Given the description of an element on the screen output the (x, y) to click on. 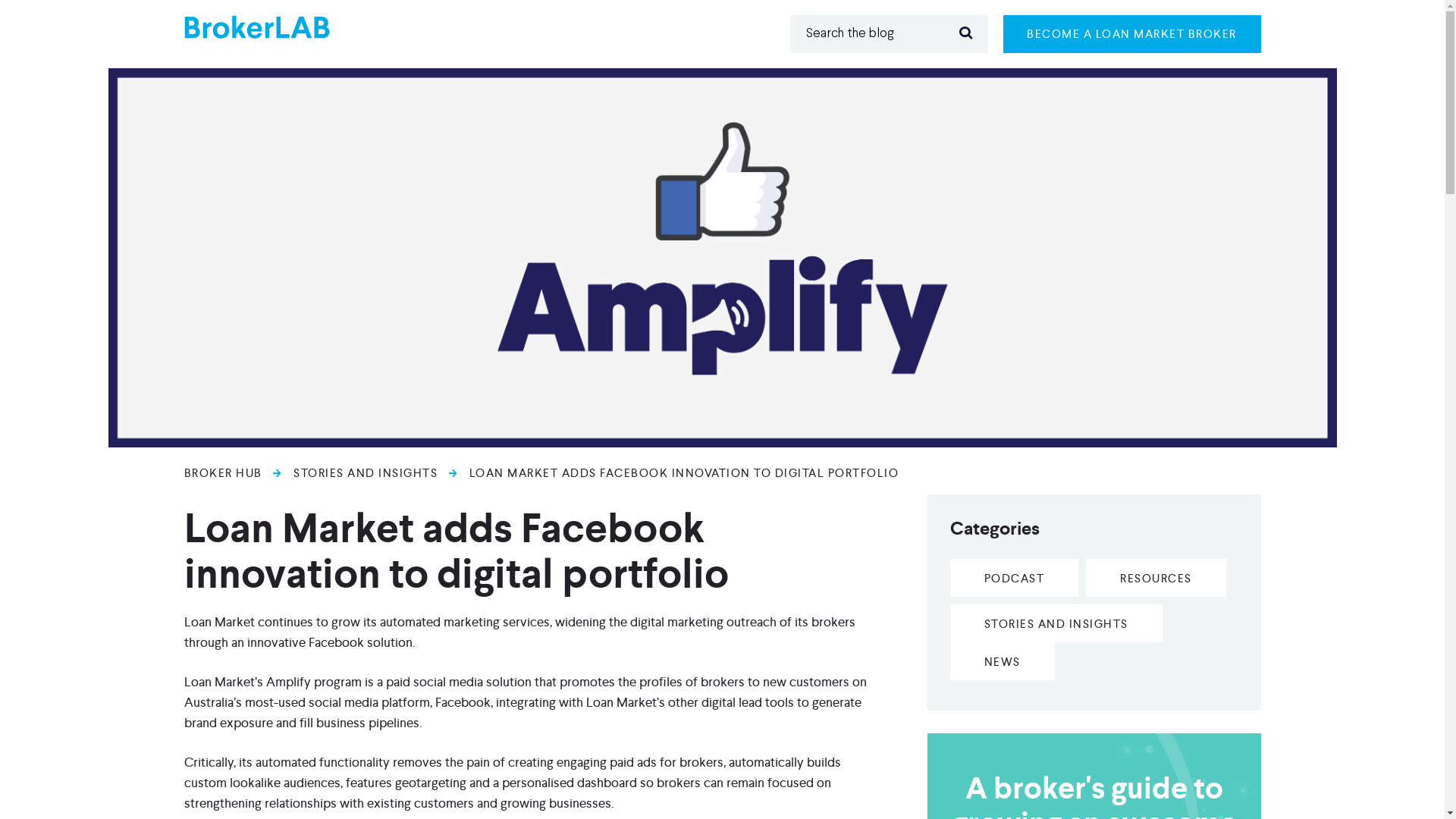
BECOME A LOAN MARKET BROKER Element type: text (1131, 34)
STORIES AND INSIGHTS Element type: text (1055, 623)
STORIES AND INSIGHTS Element type: text (365, 472)
NEWS Element type: text (1001, 661)
Search Element type: text (965, 32)
BROKER HUB Element type: text (222, 472)
RESOURCES Element type: text (1155, 577)
PODCAST Element type: text (1013, 577)
